Given the description of an element on the screen output the (x, y) to click on. 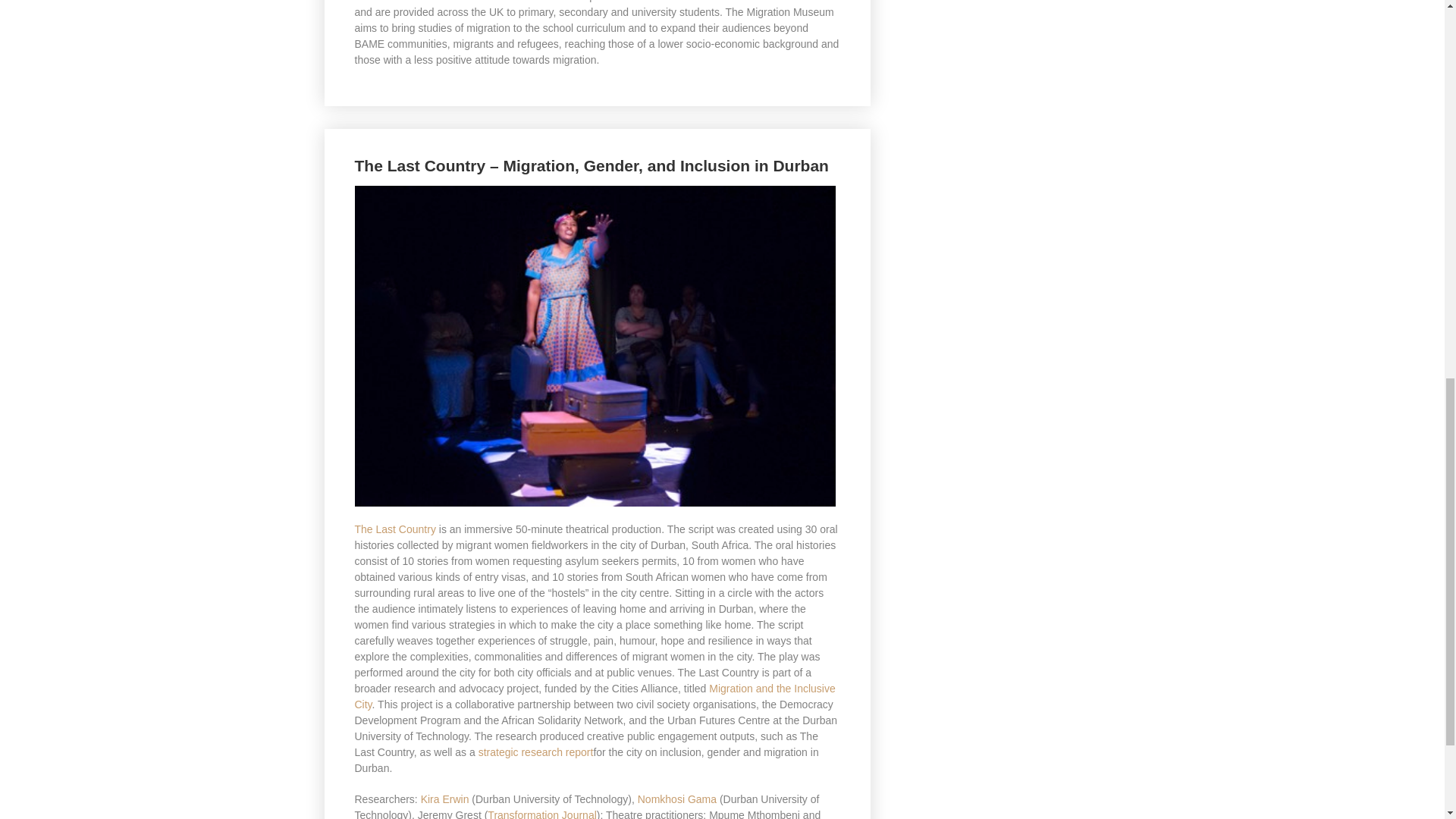
Transformation Journal (541, 814)
Migration and the Inclusive City (595, 696)
Nomkhosi Gama (676, 799)
strategic research report (536, 752)
Kira Erwin (444, 799)
The Last Country (395, 529)
